Given the description of an element on the screen output the (x, y) to click on. 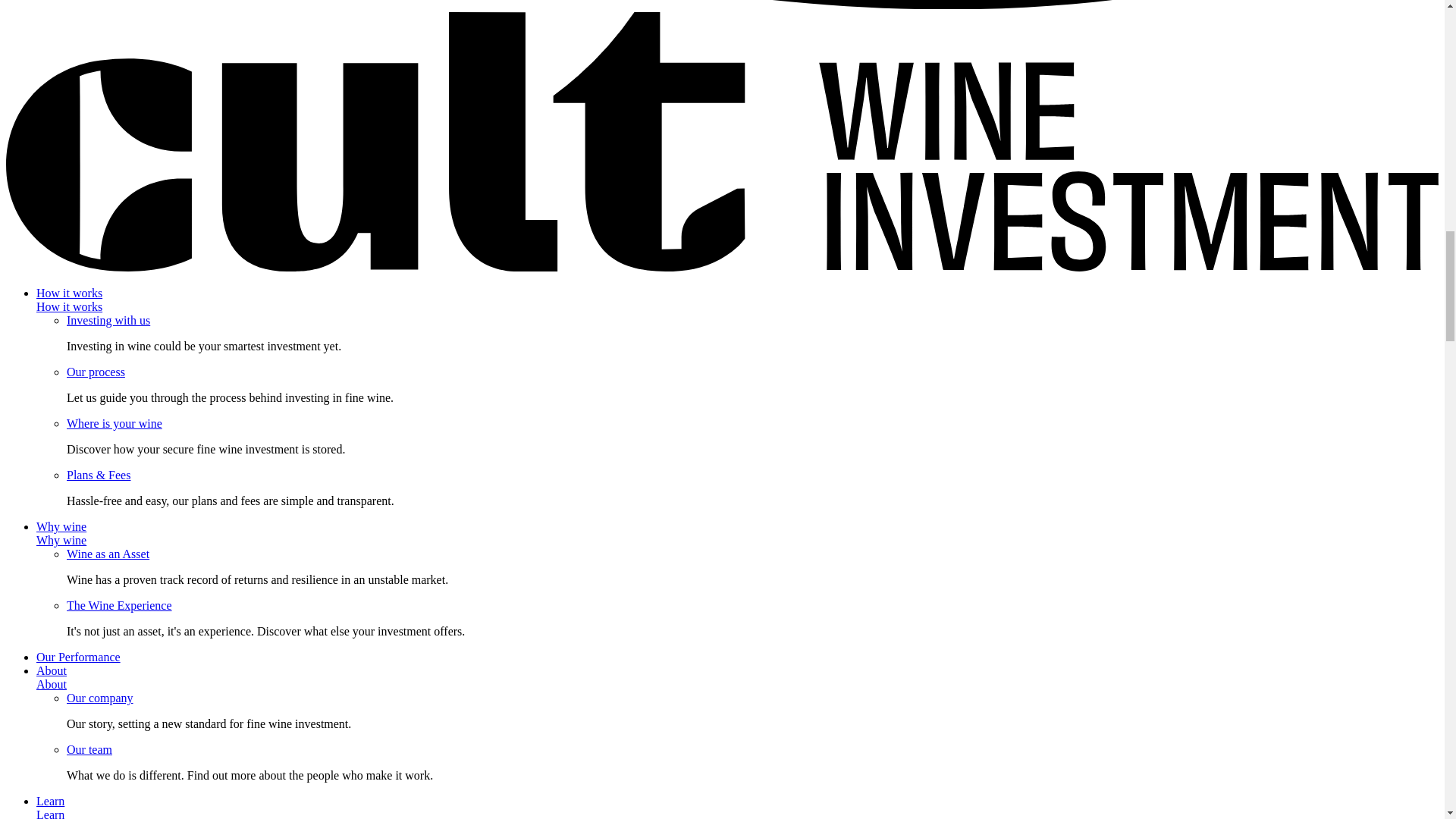
Our Performance (78, 656)
Where is your wine (113, 422)
Our process (95, 371)
About (51, 684)
Why wine (60, 540)
The Wine Experience (118, 604)
How it works (68, 306)
Our team (89, 748)
Investing with us (107, 319)
Learn (50, 813)
Our company (99, 697)
Wine as an Asset (107, 553)
